Given the description of an element on the screen output the (x, y) to click on. 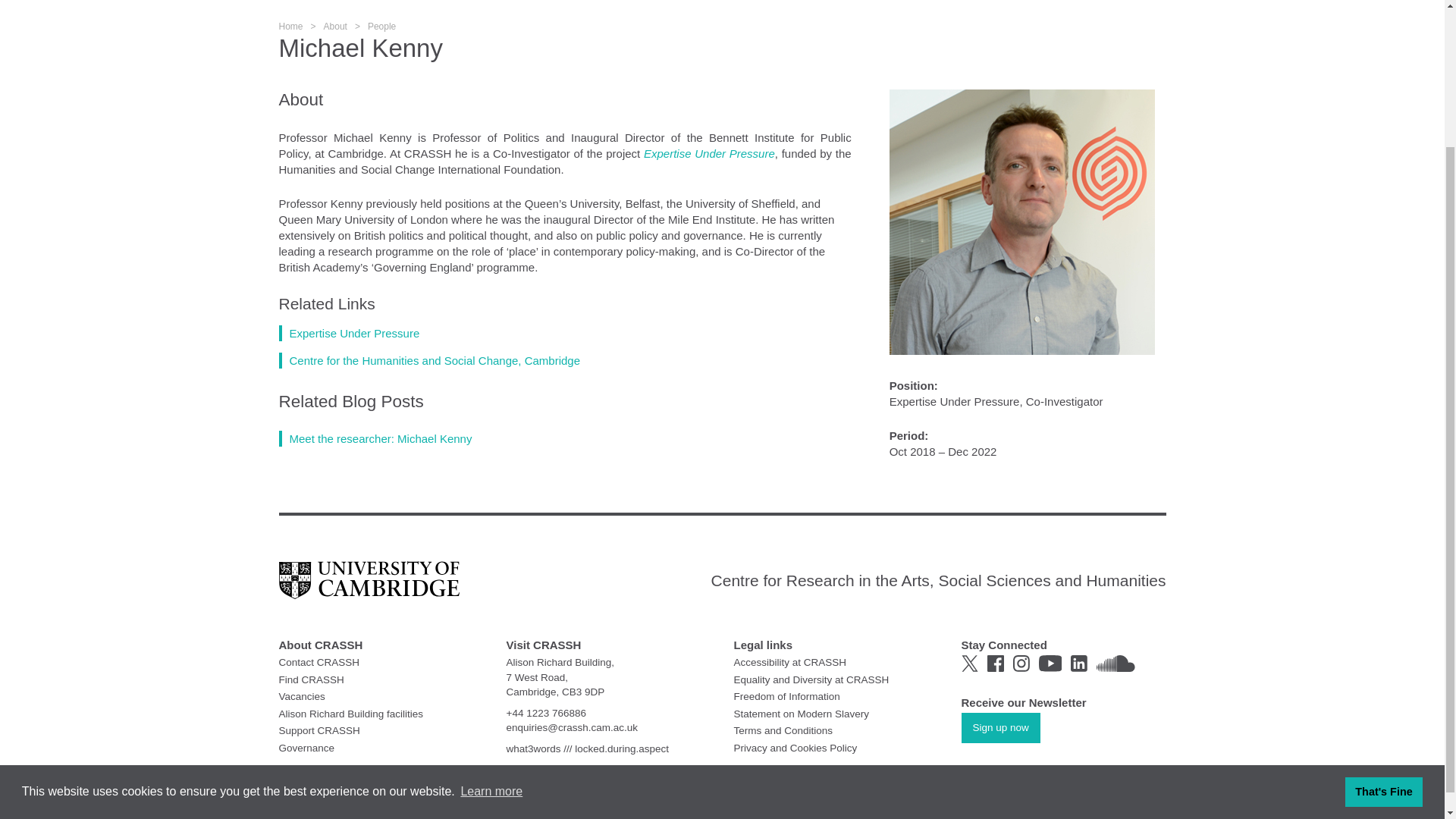
That's Fine (1383, 618)
Terms and Conditions (782, 730)
Privacy and Cookies Policy (795, 747)
Home (290, 26)
Alison Richard Building facilities (351, 713)
Meet the researcher: Michael Kenny (375, 438)
Equality and Diversity at CRASSH (811, 678)
Vacancies (301, 696)
People (382, 26)
Find CRASSH (311, 678)
Governance (306, 747)
Statement on Modern Slavery (801, 713)
Accessibility at CRASSH (790, 662)
Learn more (491, 618)
Support CRASSH (319, 730)
